Given the description of an element on the screen output the (x, y) to click on. 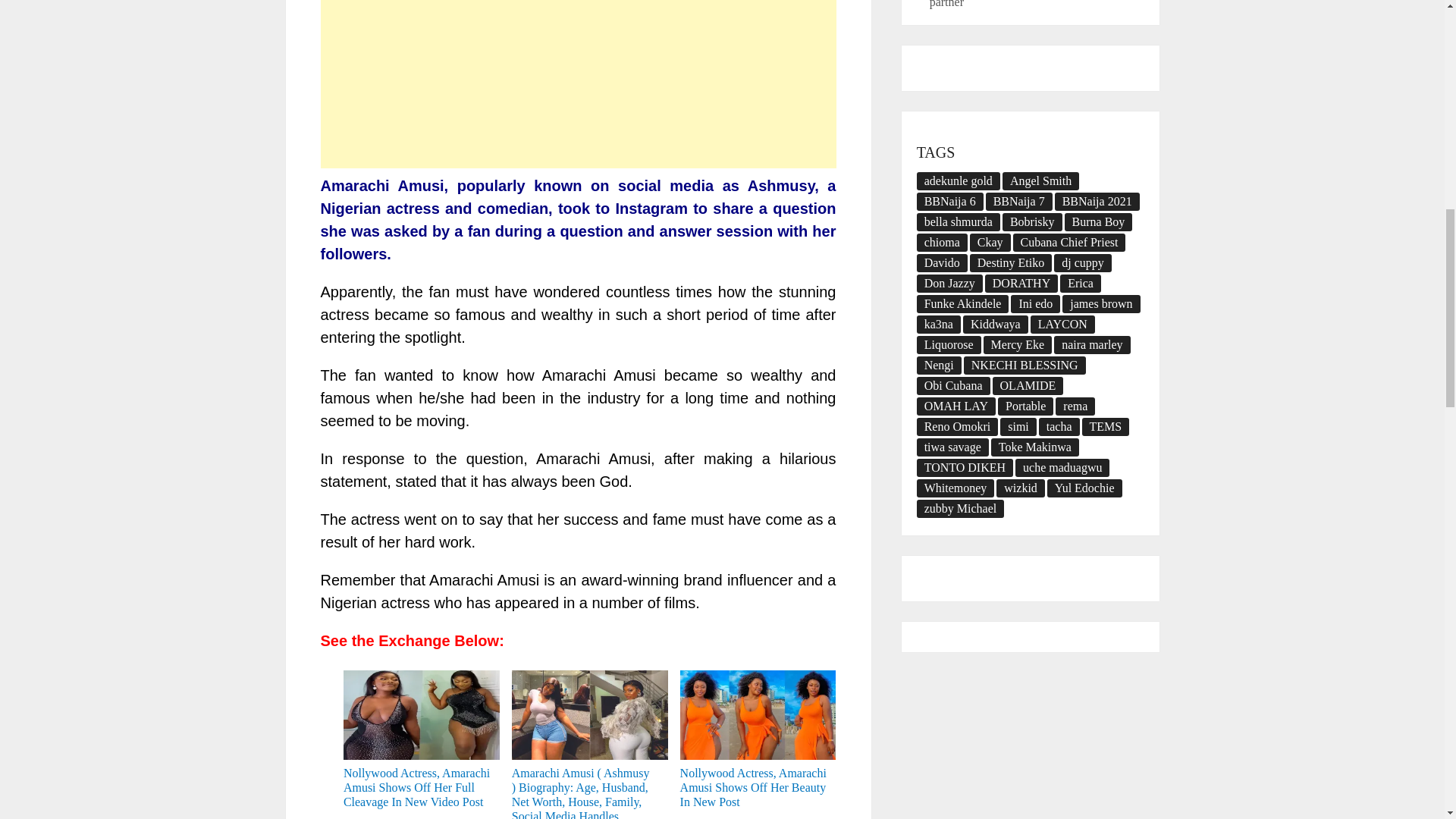
adekunle gold (958, 180)
Advertisement (577, 84)
